Given the description of an element on the screen output the (x, y) to click on. 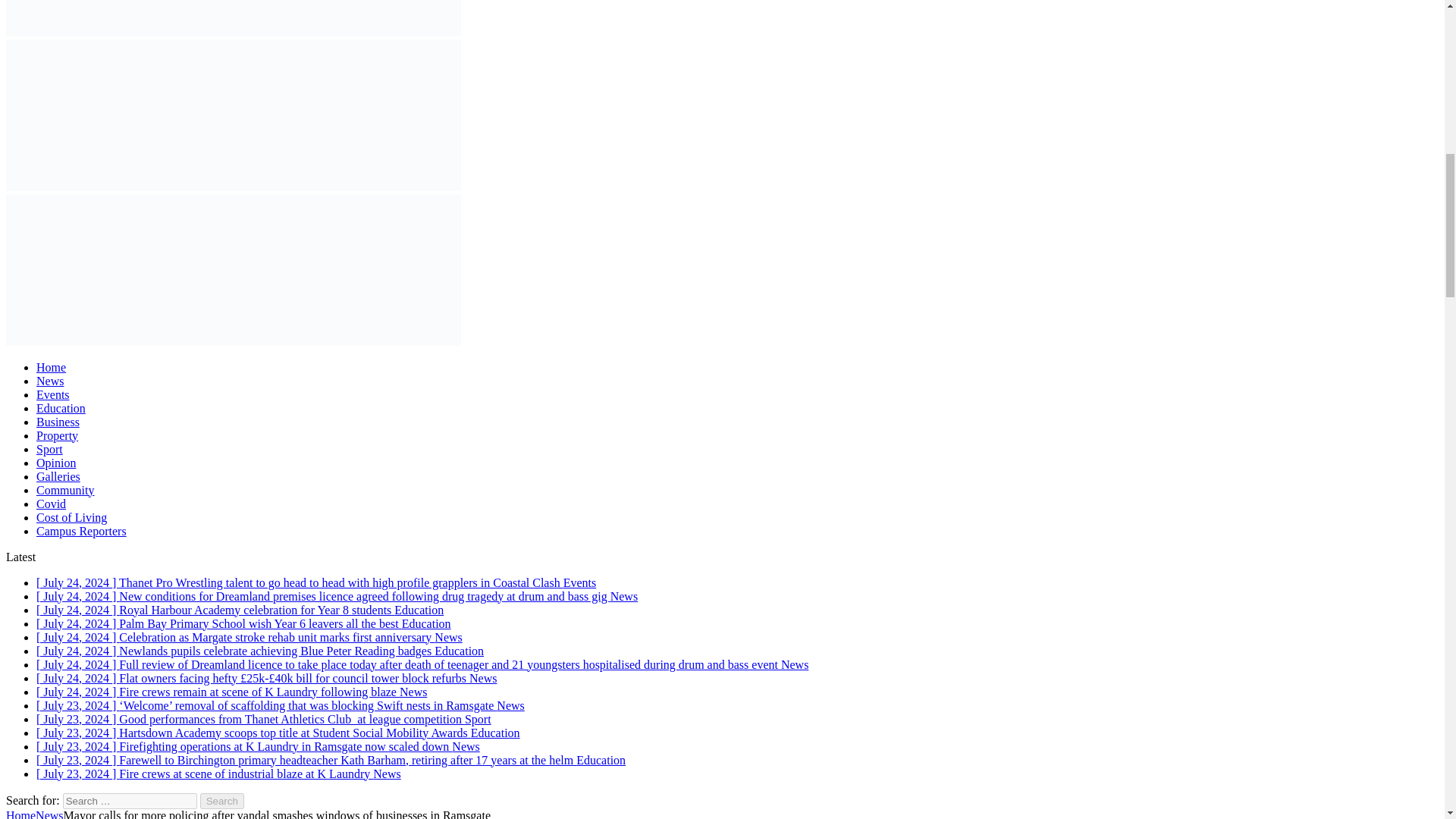
Property (57, 435)
Education (60, 408)
Home (50, 367)
Covid (50, 503)
Opinion (55, 462)
Cost of Living (71, 517)
Galleries (58, 476)
Search (222, 801)
Campus Reporters (81, 530)
Royal Harbour Academy celebration for Year 8 students (240, 609)
Search (222, 801)
